Given the description of an element on the screen output the (x, y) to click on. 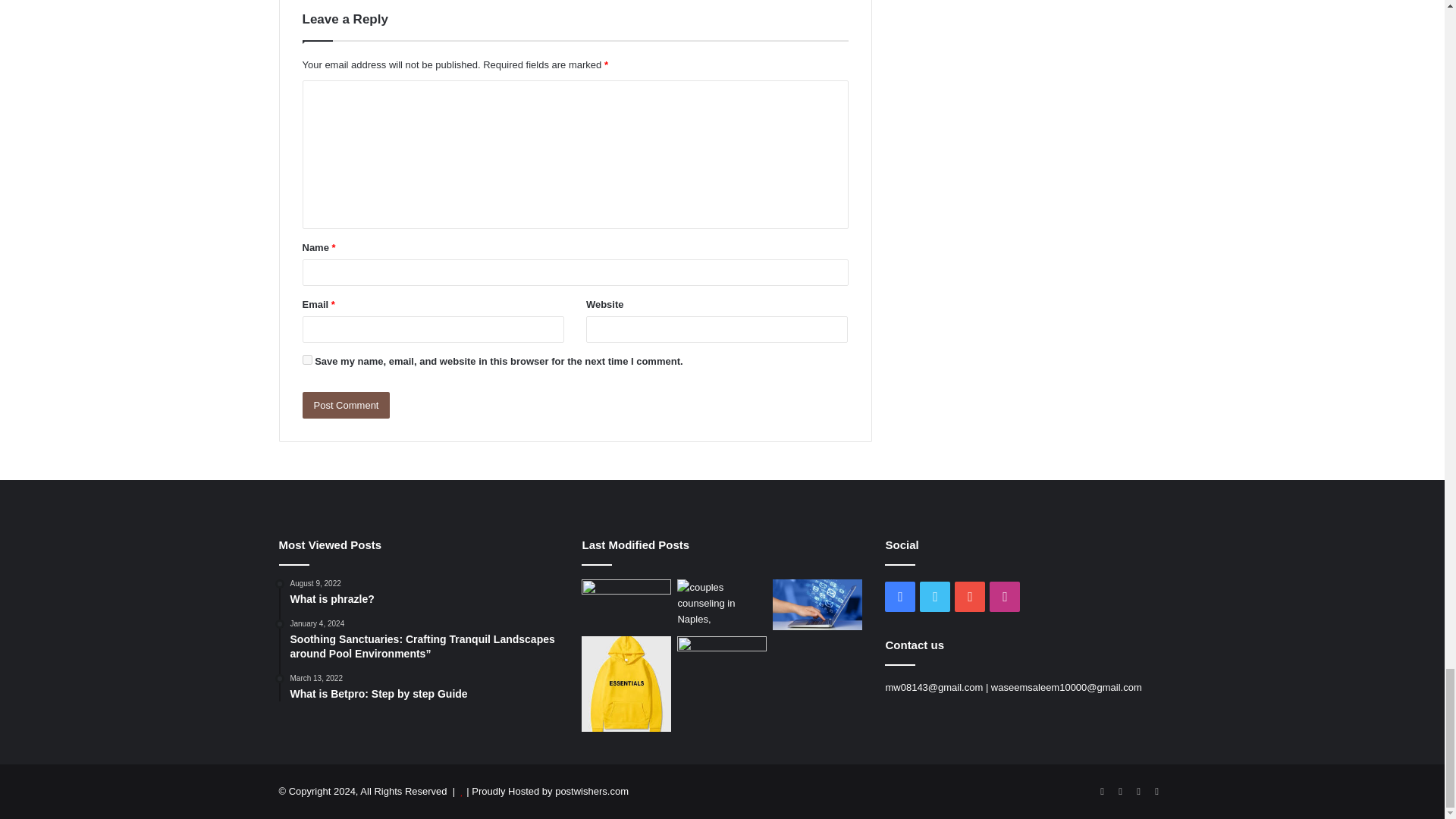
Post Comment (345, 405)
yes (306, 359)
